Given the description of an element on the screen output the (x, y) to click on. 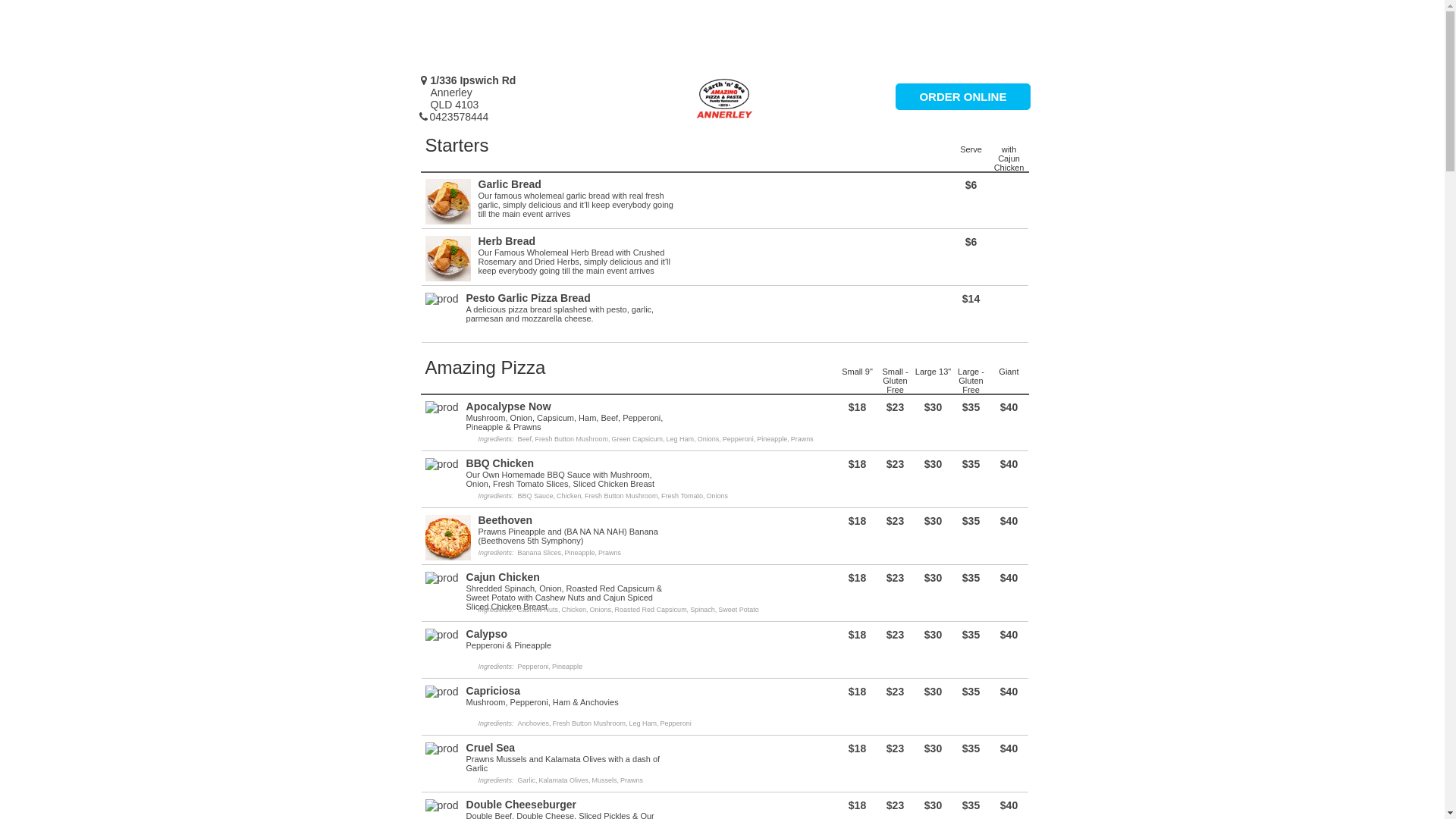
ORDER ONLINE Element type: text (962, 96)
Amazing Pizza Element type: text (484, 367)
Starters Element type: text (456, 144)
